Given the description of an element on the screen output the (x, y) to click on. 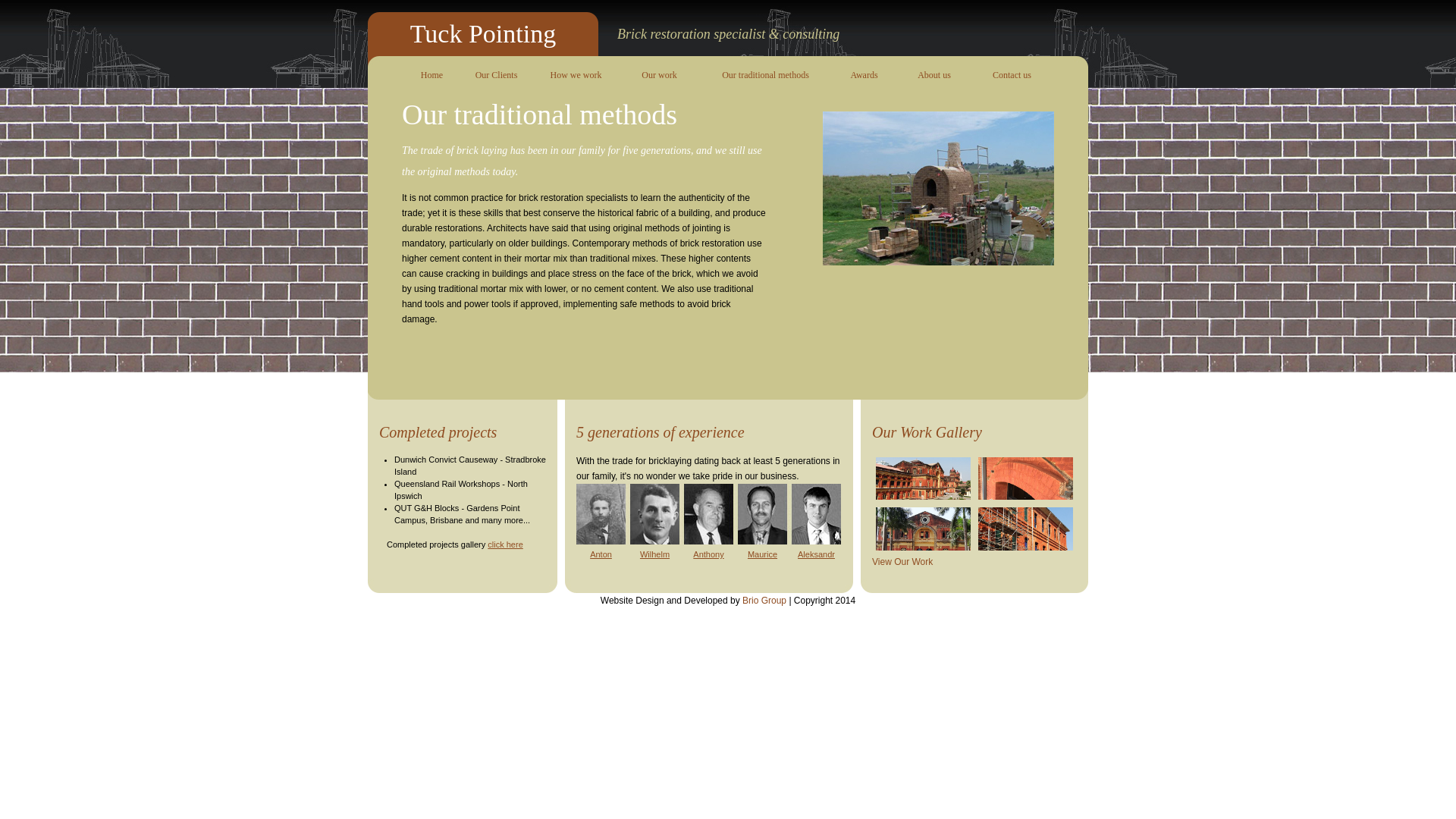
How we work Element type: text (575, 76)
Maurice Element type: text (762, 553)
Anthony Element type: text (708, 553)
Contact us Element type: text (1011, 76)
Our traditional methods Element type: text (765, 76)
View Our Work Element type: text (902, 561)
Brio Group Element type: text (764, 600)
Awards Element type: text (863, 76)
5 generations of experience Element type: text (660, 431)
Completed projects Element type: text (437, 431)
Home Element type: text (431, 76)
Anton Element type: text (600, 553)
Our Work Gallery Element type: text (974, 426)
About us Element type: text (934, 76)
Wilhelm Element type: text (654, 553)
Our work Element type: text (659, 76)
click here Element type: text (504, 544)
Our Clients Element type: text (496, 76)
Aleksandr Element type: text (815, 553)
